Given the description of an element on the screen output the (x, y) to click on. 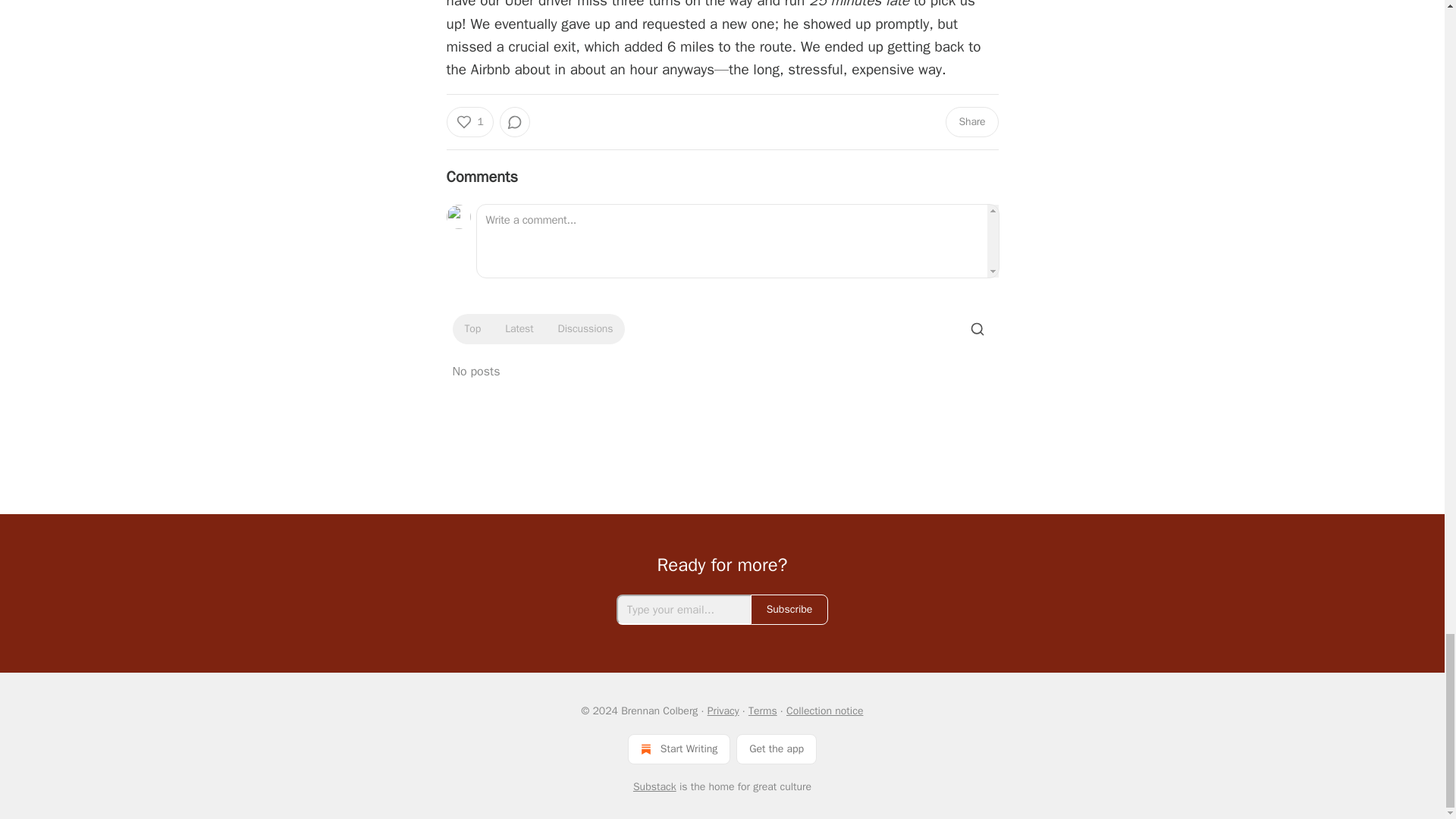
Latest (518, 328)
1 (469, 122)
Share (970, 122)
Discussions (585, 328)
Top (471, 328)
